Given the description of an element on the screen output the (x, y) to click on. 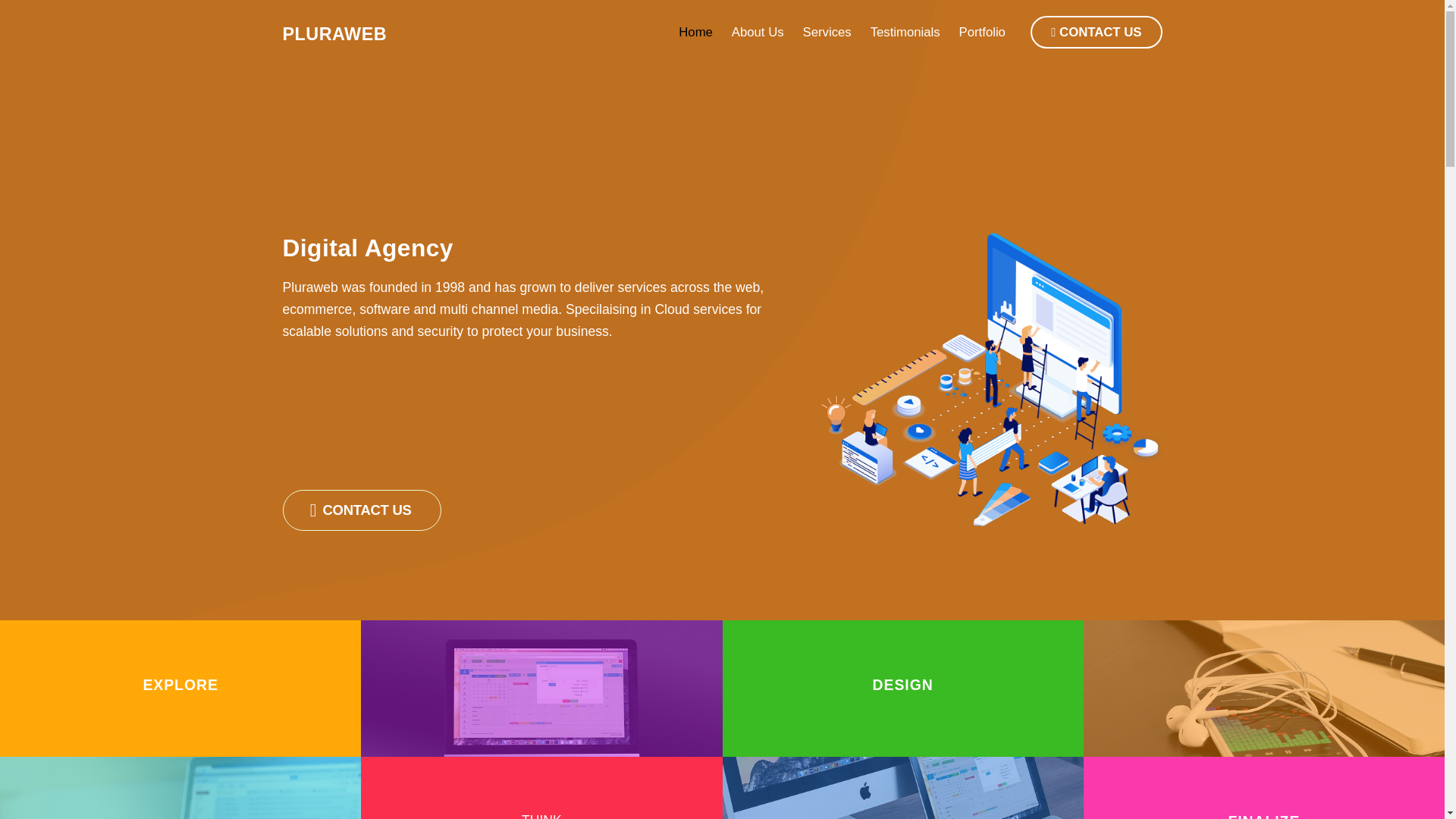
Services (826, 31)
PLURAWEB (334, 34)
Testimonials (905, 31)
Portfolio (982, 31)
About Us (757, 31)
CONTACT US (361, 509)
CONTACT US (1095, 31)
Pluraweb (334, 34)
Home (695, 31)
